Given the description of an element on the screen output the (x, y) to click on. 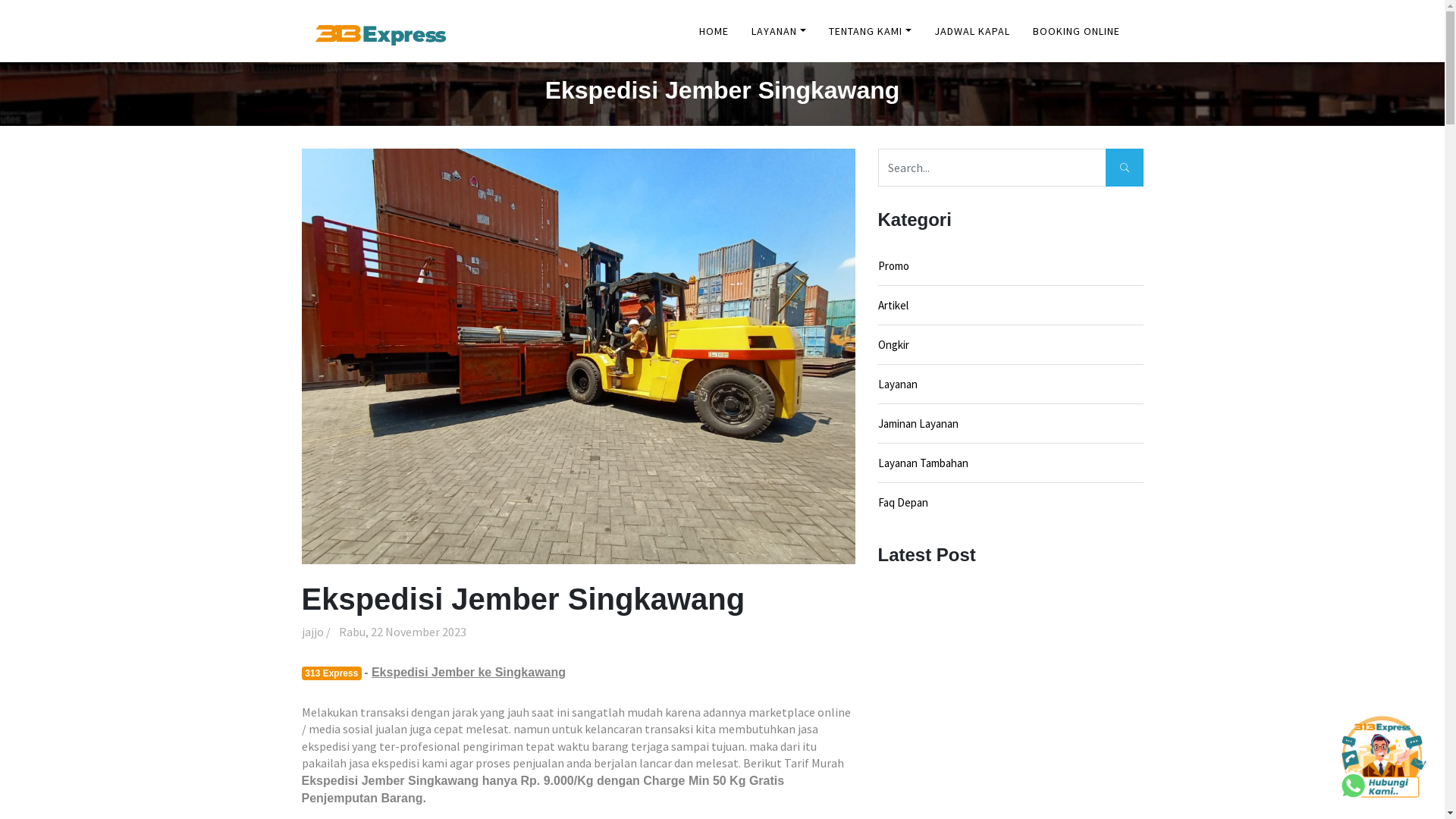
Rabu, 22 November 2023 Element type: text (402, 631)
jajjo Element type: text (312, 631)
TENTANG KAMI Element type: text (869, 31)
313 Express Element type: text (331, 673)
HOME Element type: text (713, 31)
Ongkir Element type: text (1010, 344)
Layanan Tambahan Element type: text (1010, 462)
Faq Depan Element type: text (1010, 502)
Promo Element type: text (1010, 265)
Jaminan Layanan Element type: text (1010, 423)
LAYANAN Element type: text (778, 31)
Artikel Element type: text (1010, 304)
BOOKING ONLINE Element type: text (1075, 31)
Layanan Element type: text (1010, 383)
JADWAL KAPAL Element type: text (971, 31)
